Given the description of an element on the screen output the (x, y) to click on. 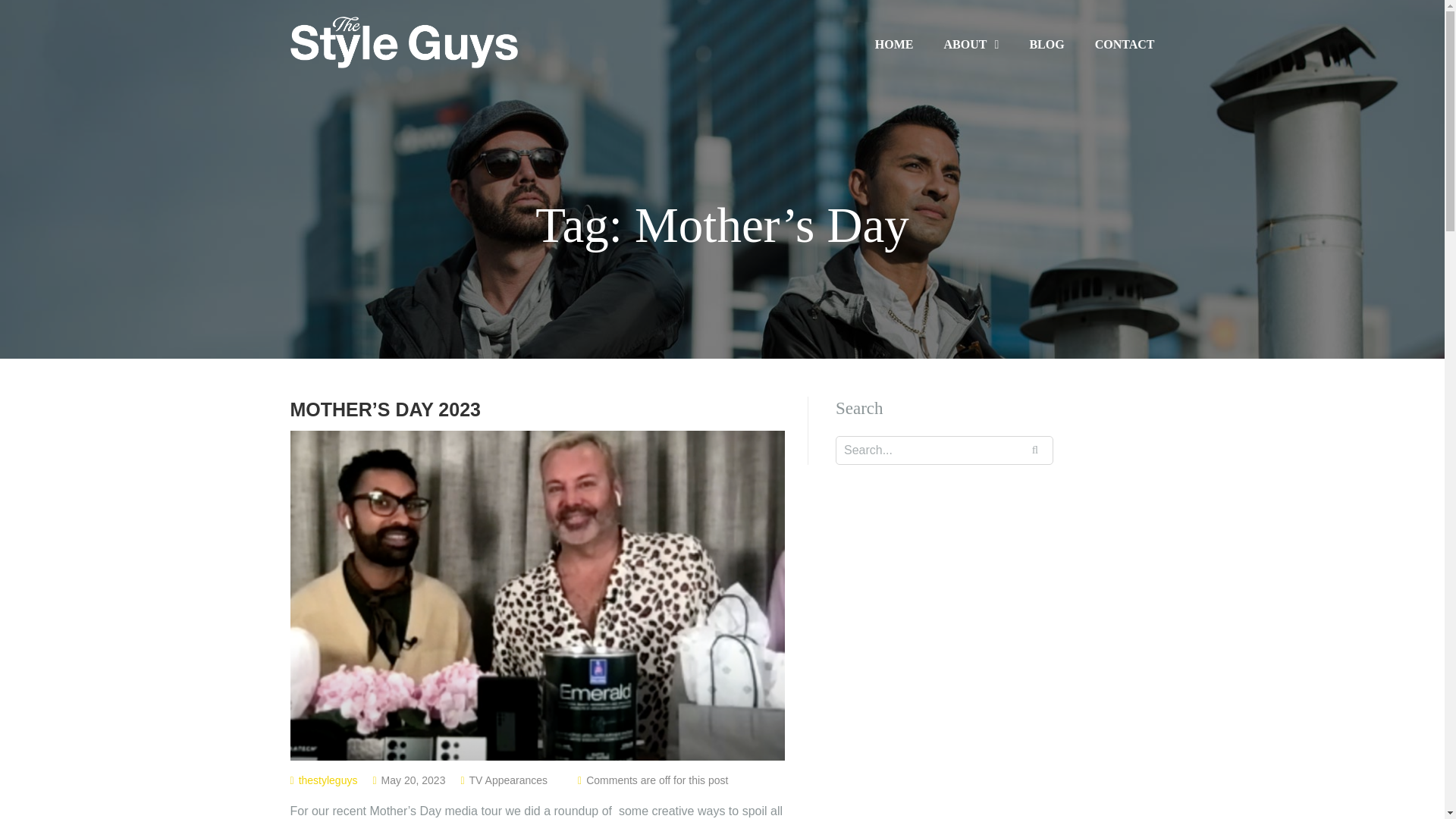
ABOUT (970, 44)
BLOG (1046, 43)
CONTACT (1124, 43)
TV Appearances (508, 779)
HOME (894, 43)
Search for: (943, 450)
The Style Guys (402, 41)
